Given the description of an element on the screen output the (x, y) to click on. 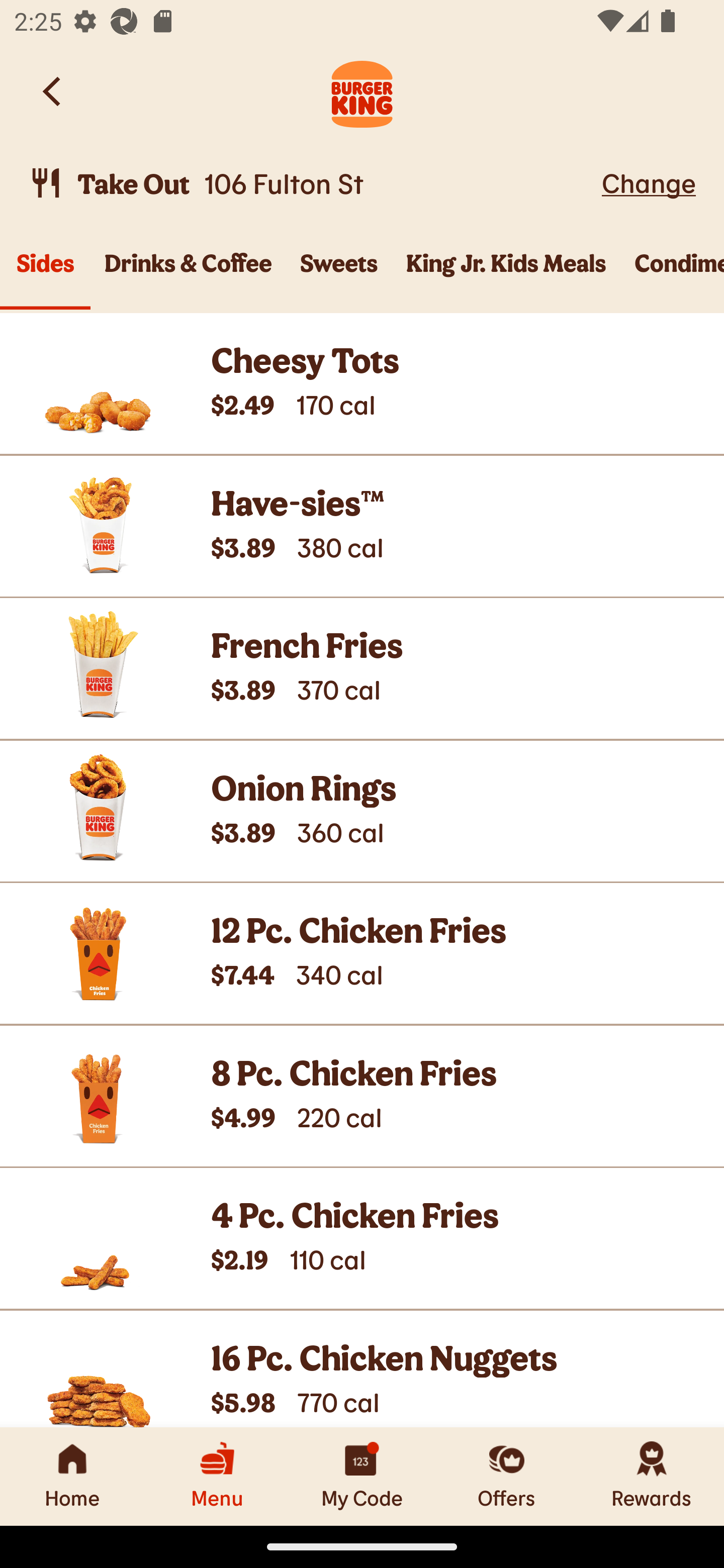
Burger King Logo. Navigate to Home (362, 91)
Back (52, 91)
Take Out, 106 Fulton St  Take Out 106 Fulton St (311, 183)
Change (648, 182)
Sides (45, 273)
Drinks & Coffee (187, 273)
Sweets (338, 273)
King Jr. Kids Meals (506, 273)
Condiments (672, 273)
Home (72, 1475)
Menu (216, 1475)
My Code (361, 1475)
Offers (506, 1475)
Rewards (651, 1475)
